Given the description of an element on the screen output the (x, y) to click on. 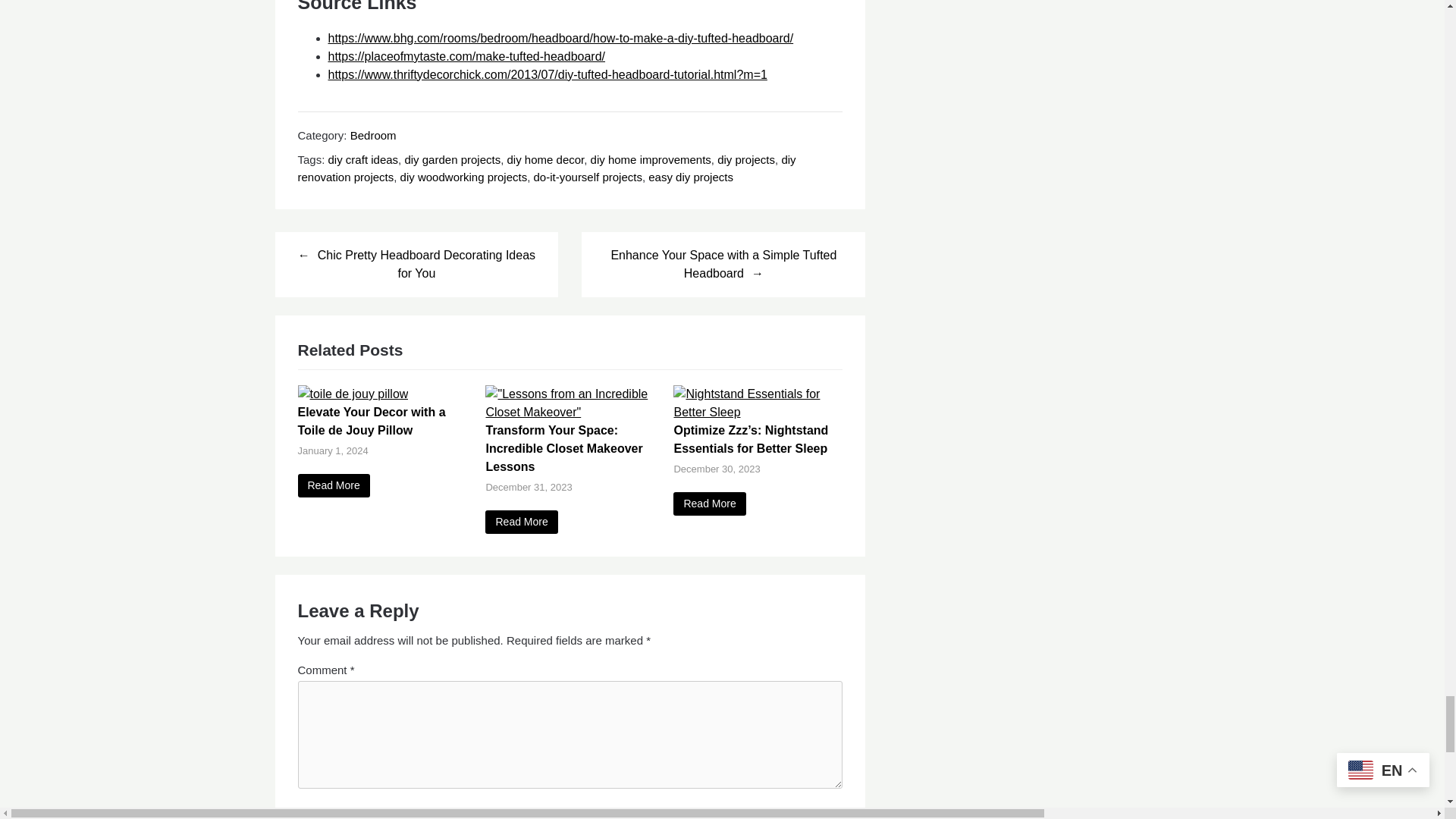
Elevate Your Decor with a Toile de Jouy Pillow (333, 485)
diy craft ideas (363, 159)
diy garden projects (452, 159)
Elevate Your Decor with a Toile de Jouy Pillow 2 (352, 393)
Chic Pretty Headboard Decorating Ideas for You (416, 264)
Elevate Your Decor with a Toile de Jouy Pillow (352, 393)
do-it-yourself projects (588, 176)
diy projects (745, 159)
easy diy projects (690, 176)
diy renovation projects (545, 168)
Bedroom (373, 134)
Enhance Your Space with a Simple Tufted Headboard (722, 264)
diy home decor (545, 159)
diy home improvements (651, 159)
diy woodworking projects (463, 176)
